Given the description of an element on the screen output the (x, y) to click on. 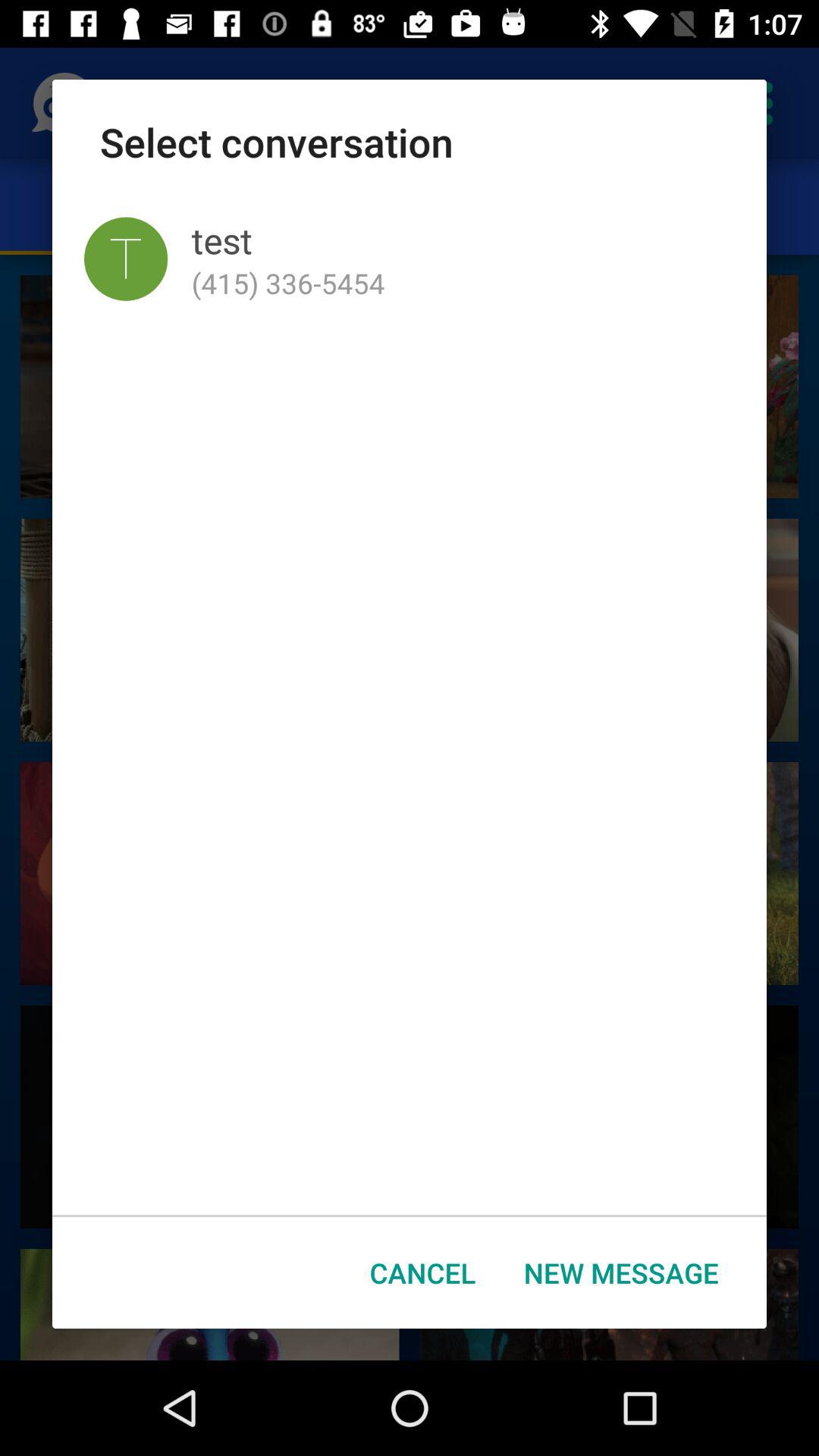
turn off cancel item (422, 1272)
